Given the description of an element on the screen output the (x, y) to click on. 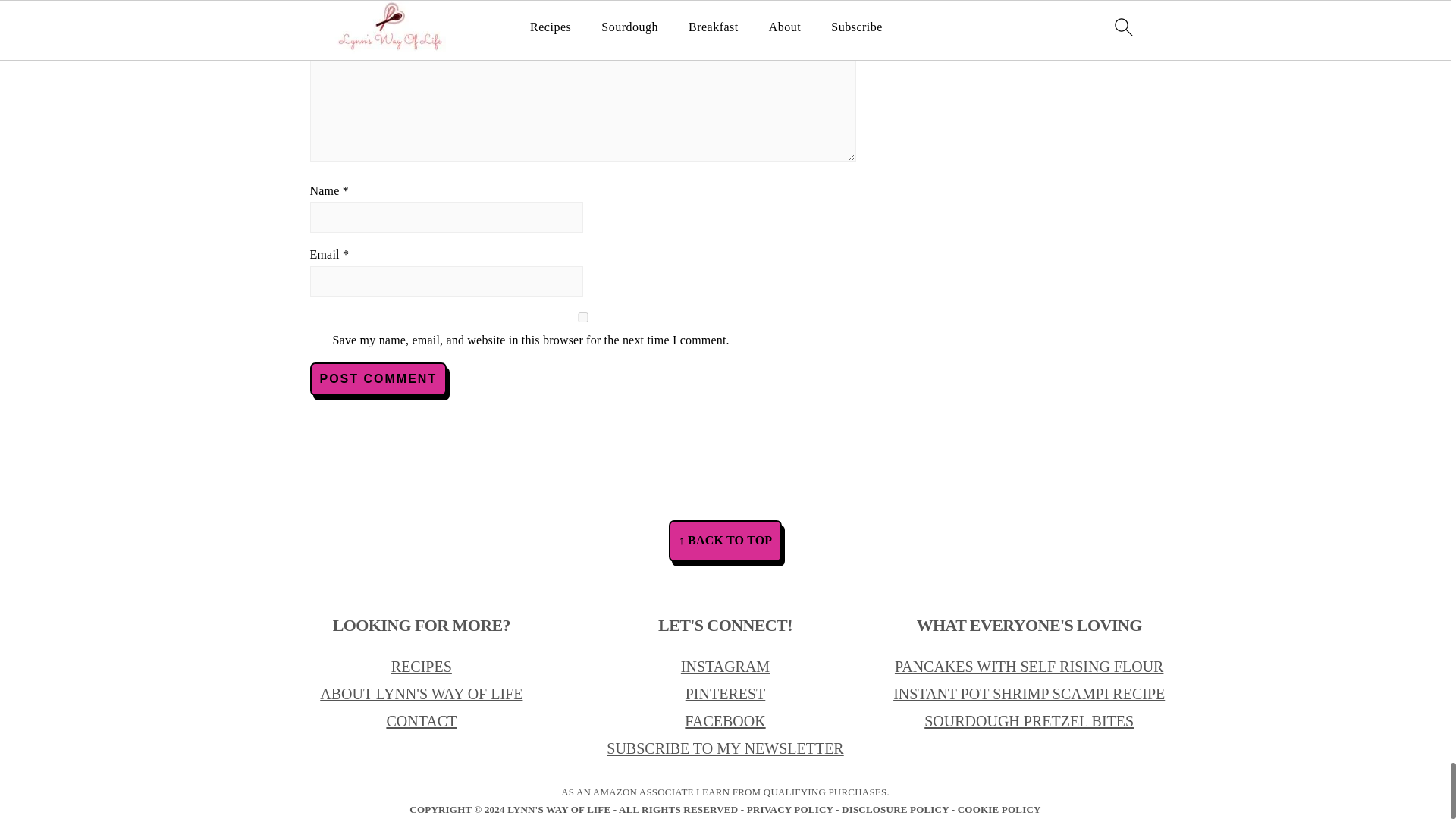
yes (582, 317)
Post Comment (377, 378)
